Given the description of an element on the screen output the (x, y) to click on. 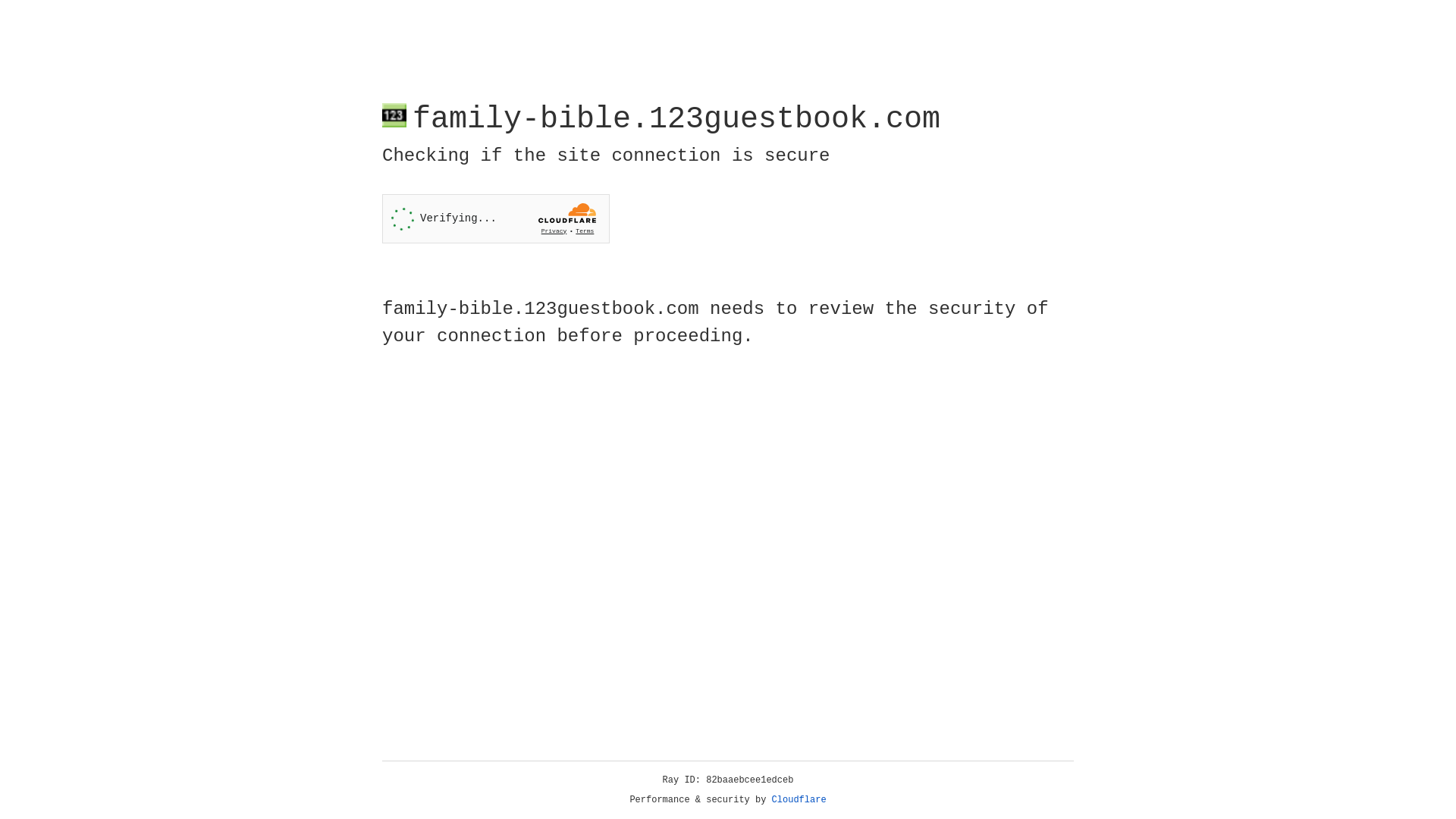
Widget containing a Cloudflare security challenge Element type: hover (495, 218)
Cloudflare Element type: text (798, 799)
